Given the description of an element on the screen output the (x, y) to click on. 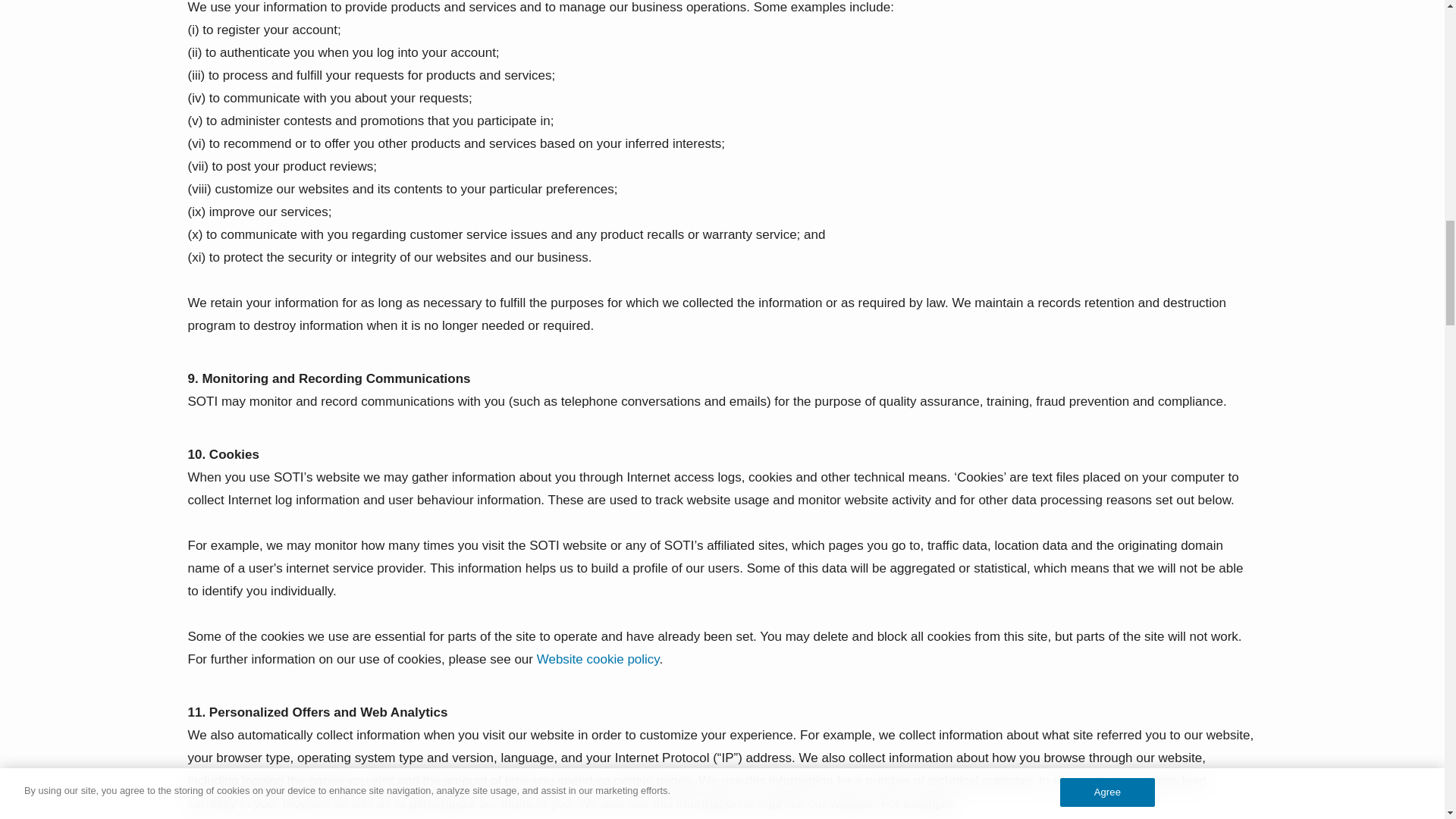
Cookie Policy (598, 658)
